Given the description of an element on the screen output the (x, y) to click on. 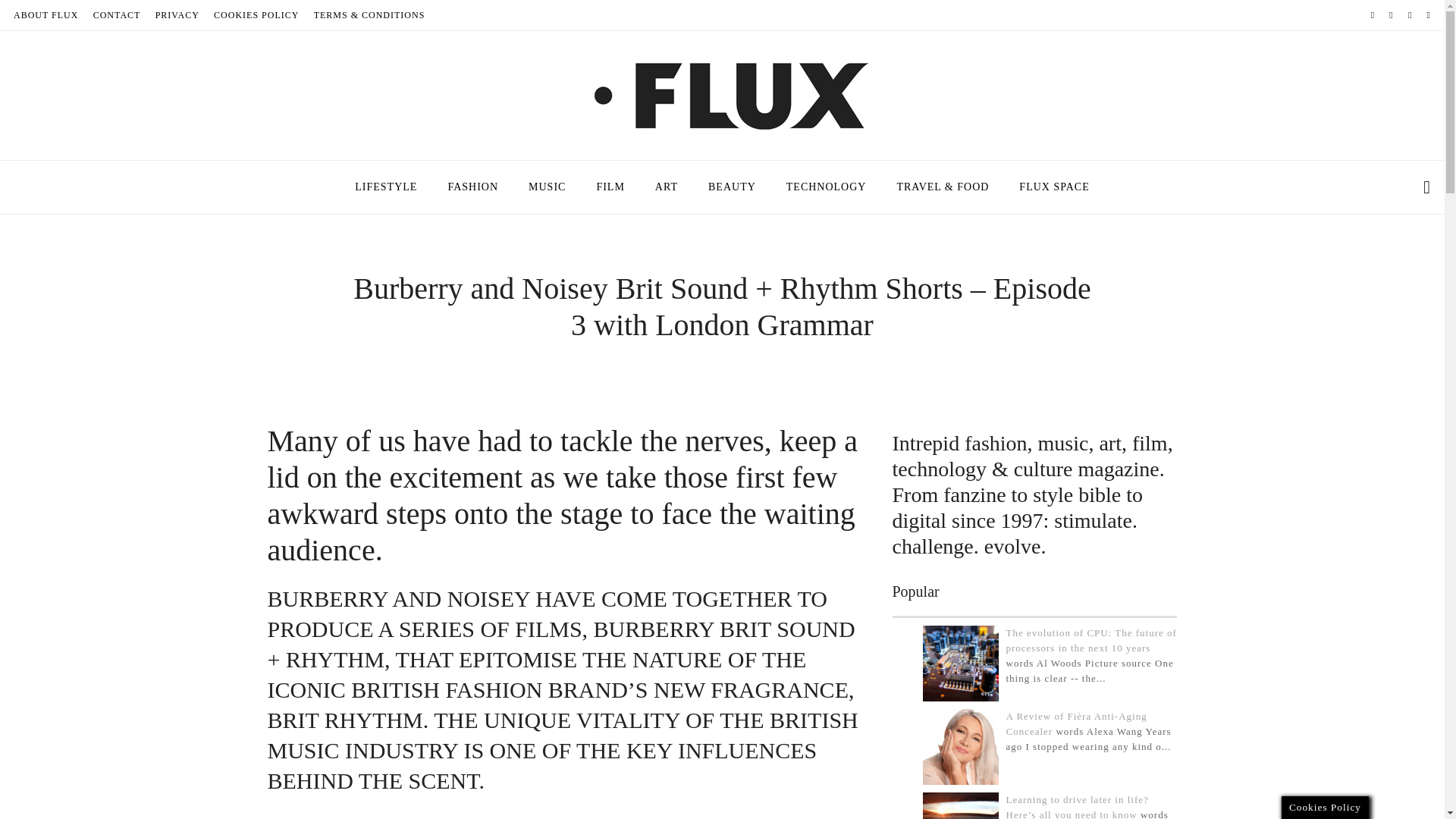
PRIVACY (177, 15)
FILM (609, 186)
CONTACT (117, 15)
COOKIES POLICY (256, 15)
BEAUTY (732, 186)
ART (666, 186)
TECHNOLOGY (826, 186)
MUSIC (546, 186)
LIFESTYLE (385, 186)
ABOUT FLUX (45, 15)
FASHION (472, 186)
